Given the description of an element on the screen output the (x, y) to click on. 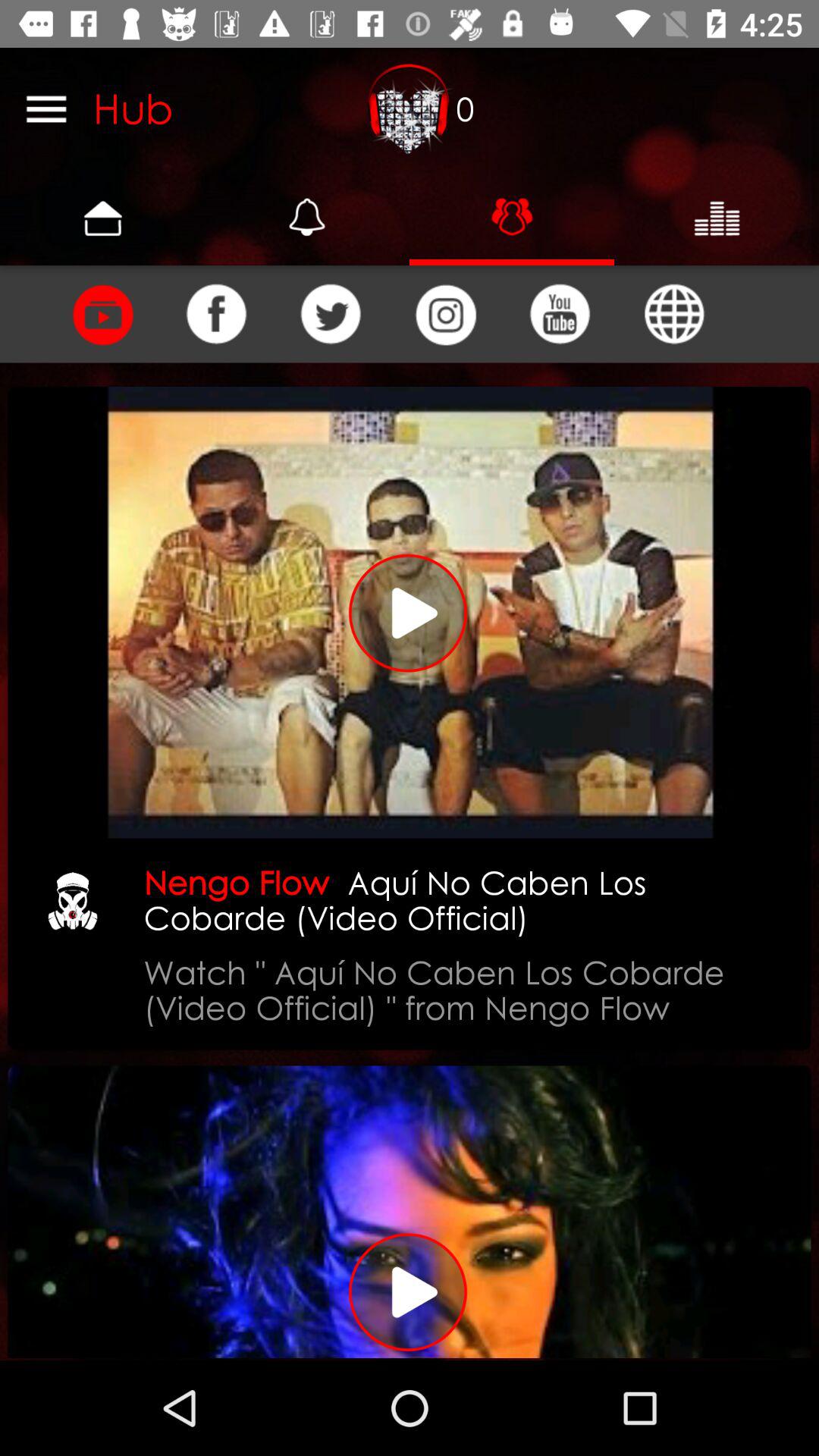
select item next to the 0 item (409, 108)
